Given the description of an element on the screen output the (x, y) to click on. 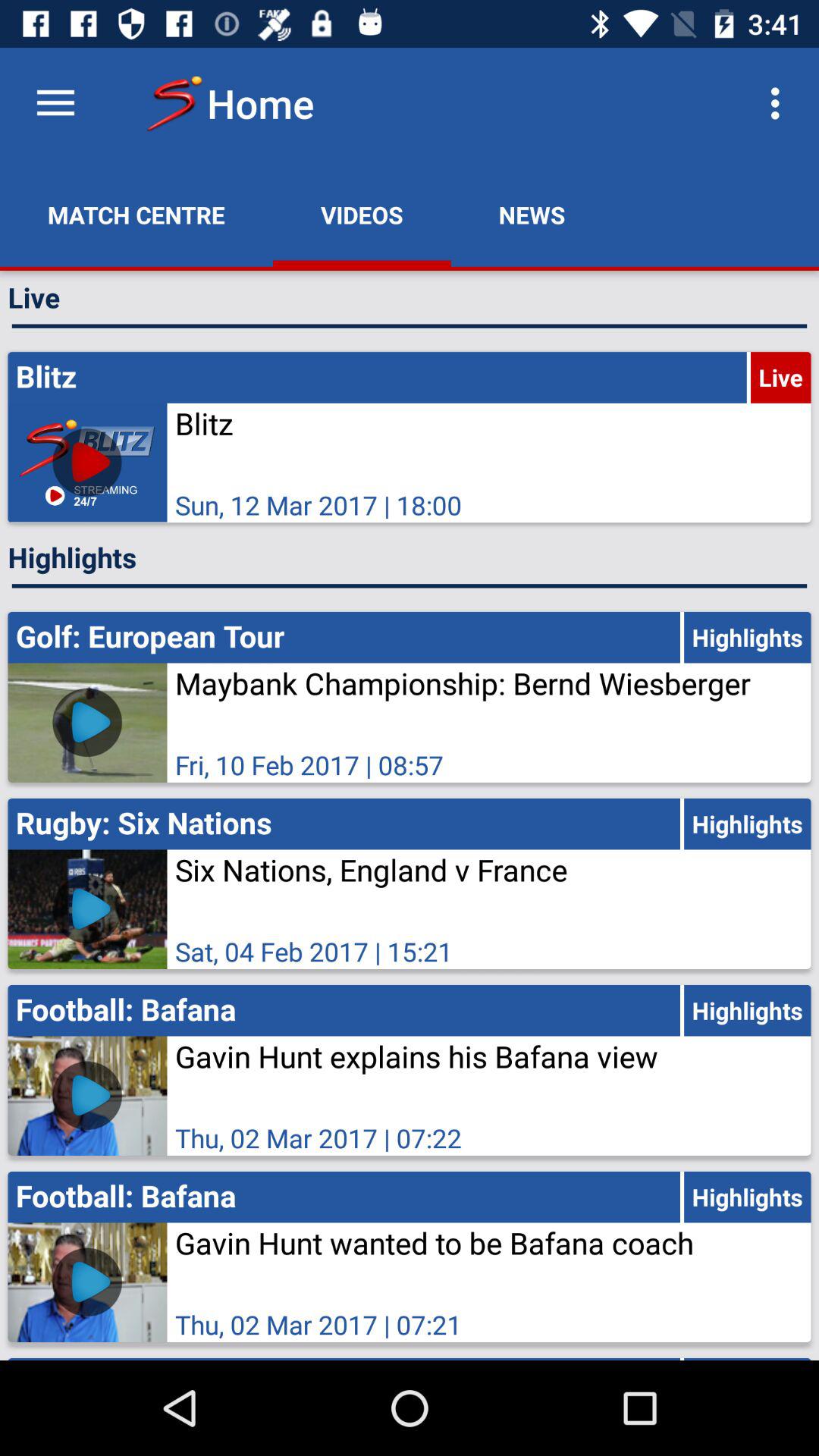
select item above the live item (136, 214)
